Given the description of an element on the screen output the (x, y) to click on. 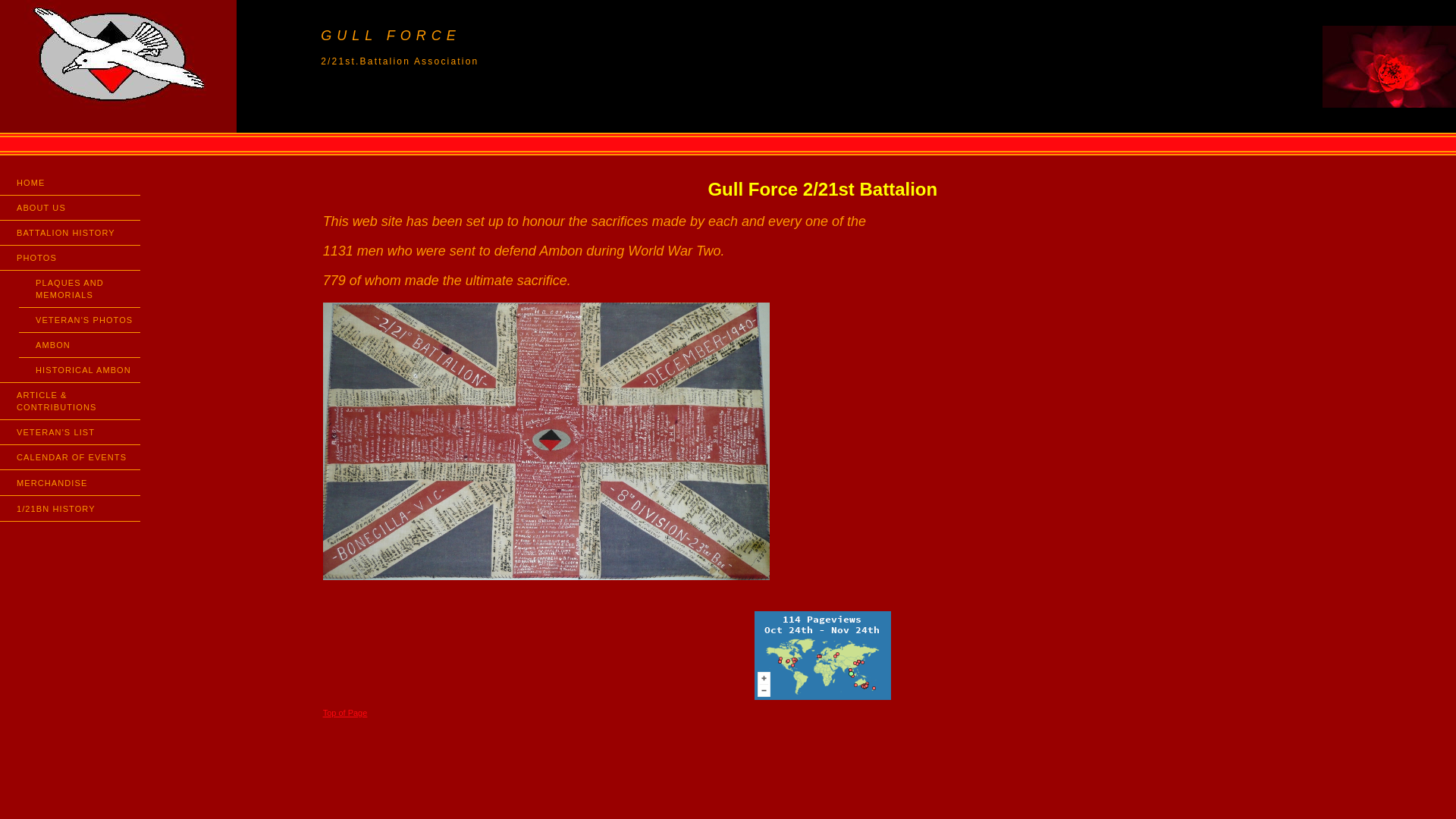
VETERAN'S LIST Element type: text (70, 432)
CALENDAR OF EVENTS Element type: text (70, 457)
BATTALION HISTORY Element type: text (70, 232)
PLAQUES AND MEMORIALS Element type: text (79, 288)
ARTICLE & CONTRIBUTIONS Element type: text (70, 400)
HOME Element type: text (70, 182)
1/21BN HISTORY Element type: text (70, 507)
AMBON Element type: text (79, 344)
PHOTOS Element type: text (70, 257)
Top of Page Element type: text (345, 712)
HISTORICAL AMBON Element type: text (79, 369)
MERCHANDISE Element type: text (70, 482)
VETERAN'S PHOTOS Element type: text (79, 319)
Locations of visitors to this page Element type: hover (822, 655)
ABOUT US Element type: text (70, 207)
